Given the description of an element on the screen output the (x, y) to click on. 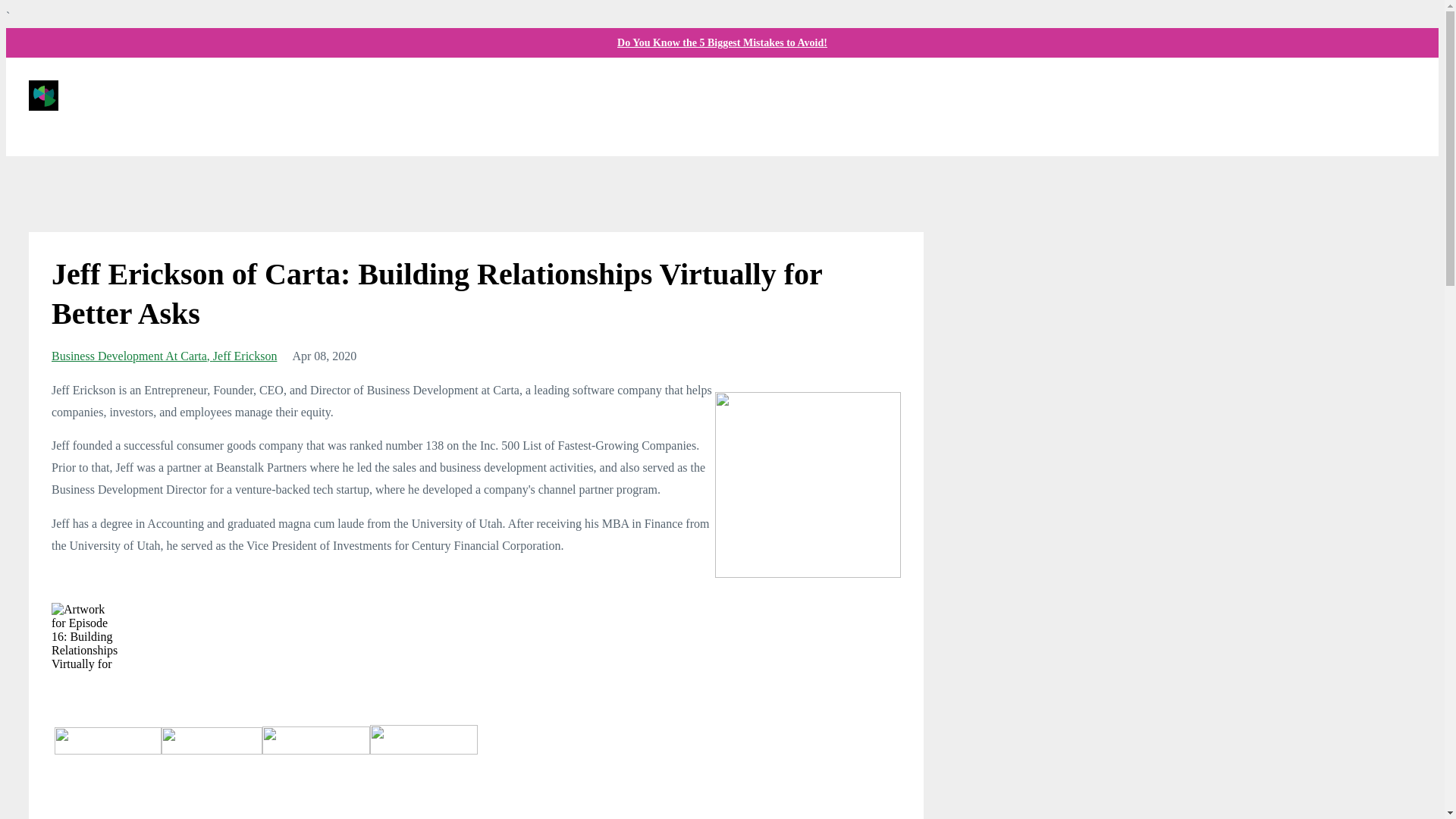
Jeff Erickson (245, 355)
Book (838, 95)
About Us (727, 95)
Learn (883, 95)
Business Development At Carta (131, 355)
Finance-Ability (646, 95)
Podcast (787, 95)
